Given the description of an element on the screen output the (x, y) to click on. 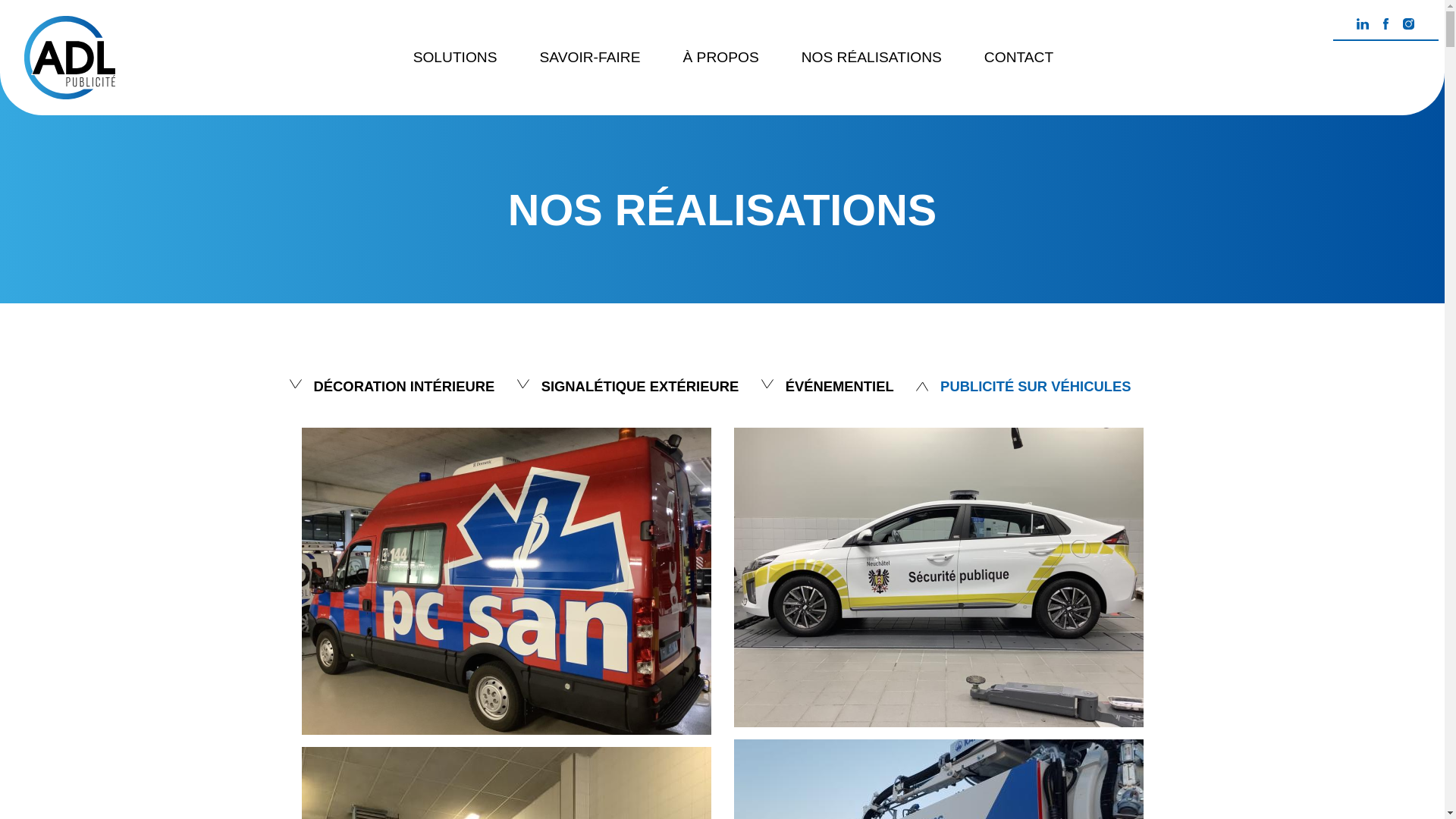
SAVOIR-FAIRE Element type: text (589, 57)
SOLUTIONS Element type: text (455, 57)
CONTACT Element type: text (1018, 57)
